Given the description of an element on the screen output the (x, y) to click on. 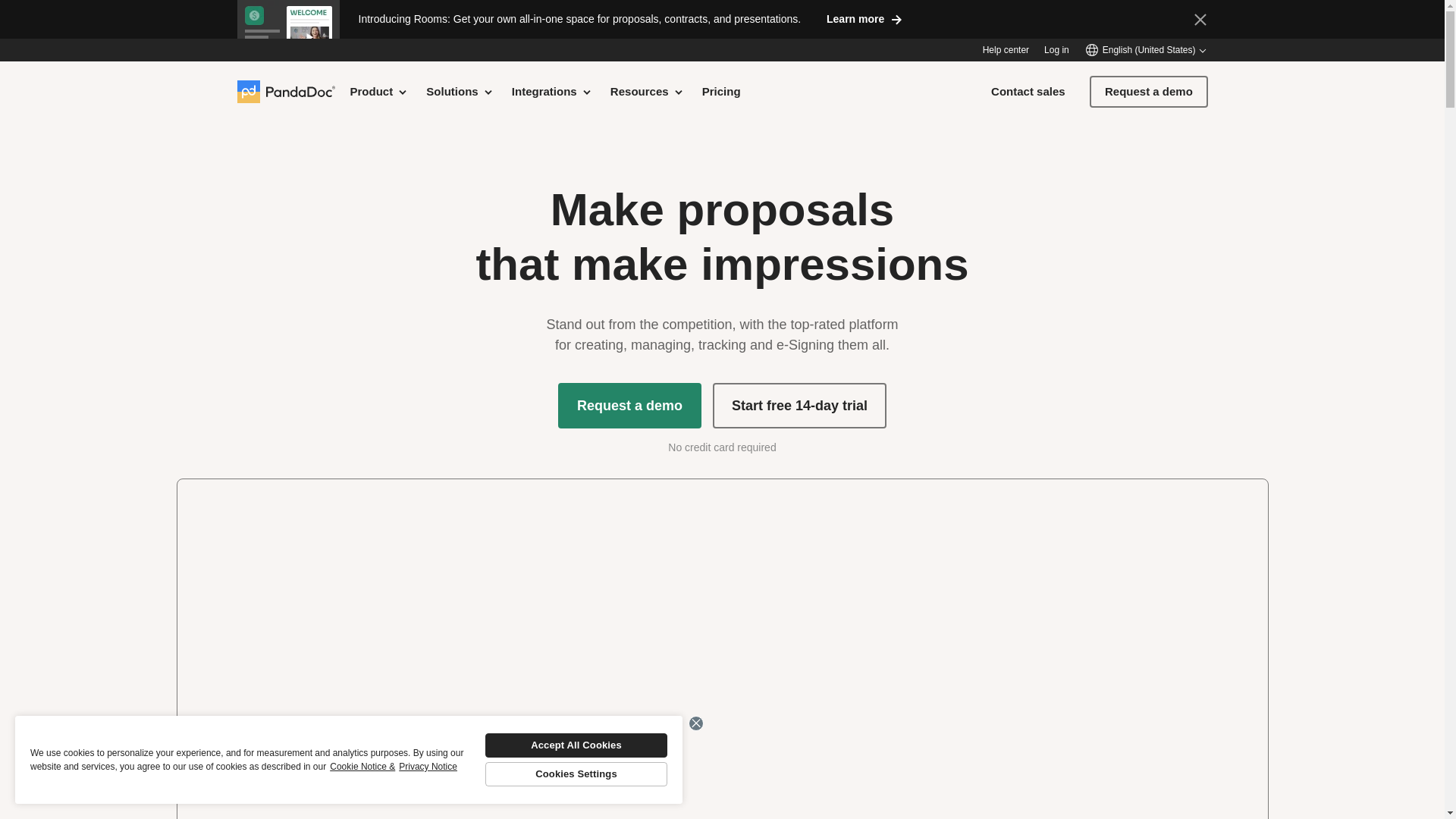
Learn more (864, 18)
Help center (1005, 49)
Log in (1055, 49)
Product (379, 91)
Solutions (459, 91)
